Given the description of an element on the screen output the (x, y) to click on. 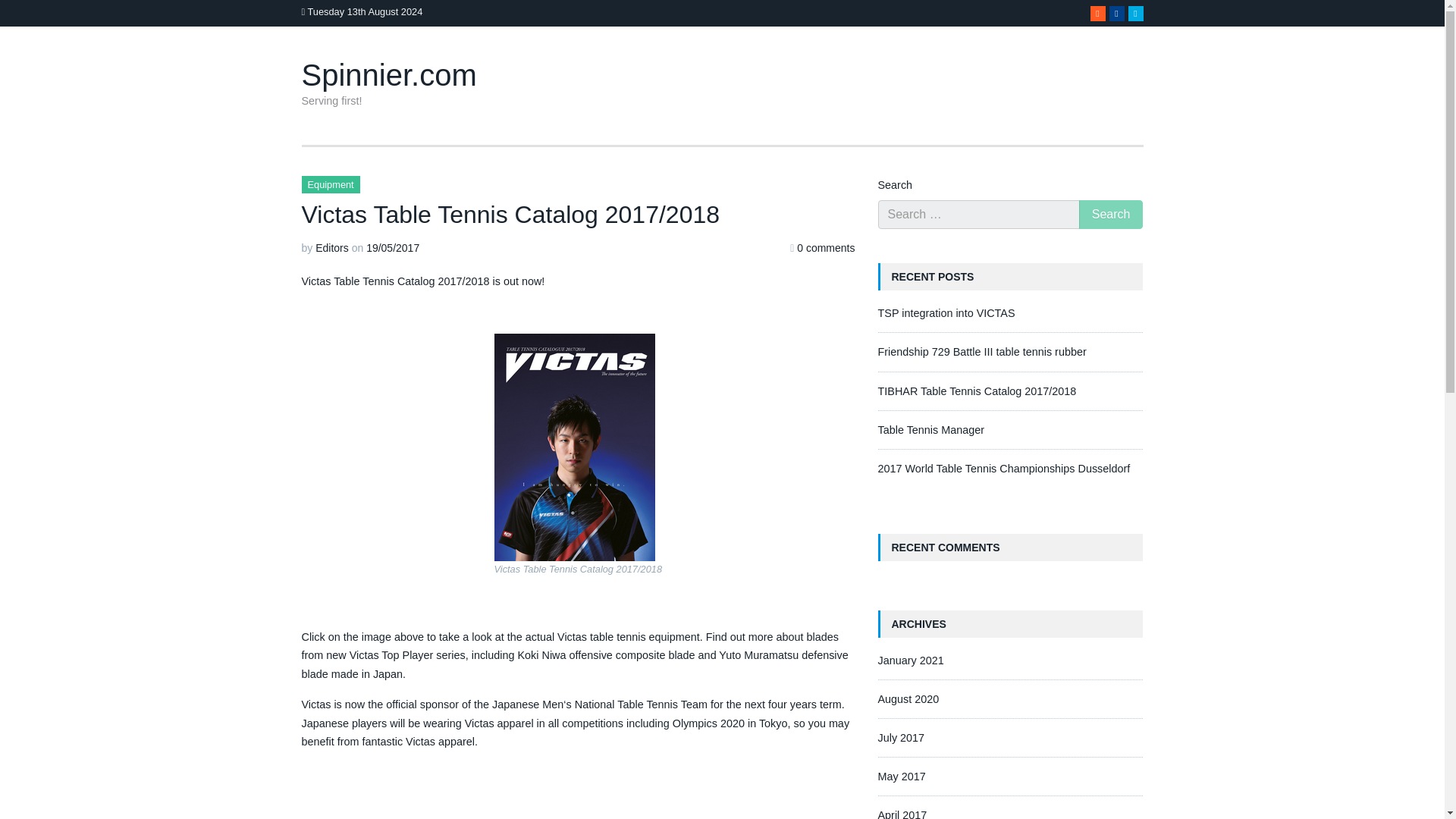
TSP integration into VICTAS (945, 313)
Equipment (330, 184)
0 comments (825, 247)
Search (1110, 214)
Editors (332, 247)
Spinnier.com (389, 74)
April 2017 (902, 814)
Friendship 729 Battle III table tennis rubber (981, 351)
August 2020 (908, 698)
July 2017 (900, 737)
